Given the description of an element on the screen output the (x, y) to click on. 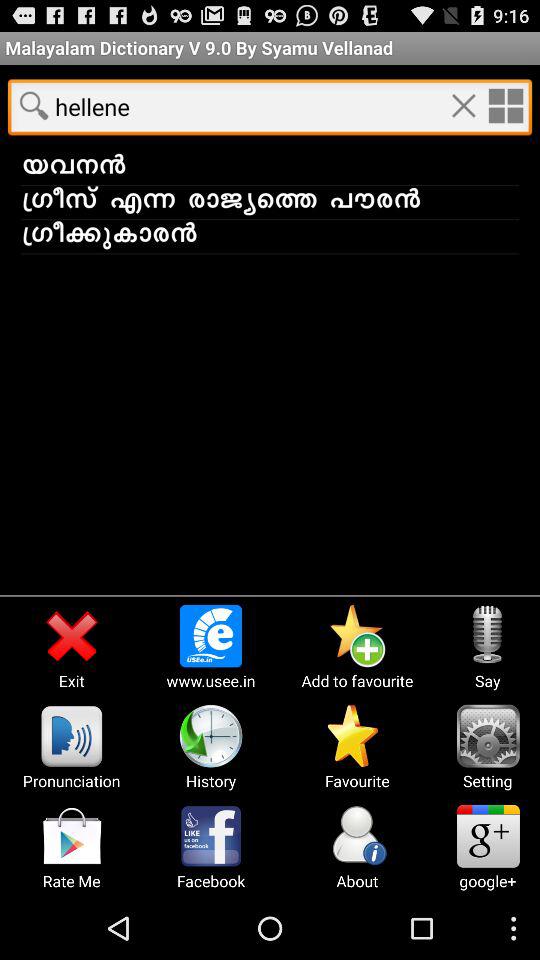
select option (505, 105)
